Given the description of an element on the screen output the (x, y) to click on. 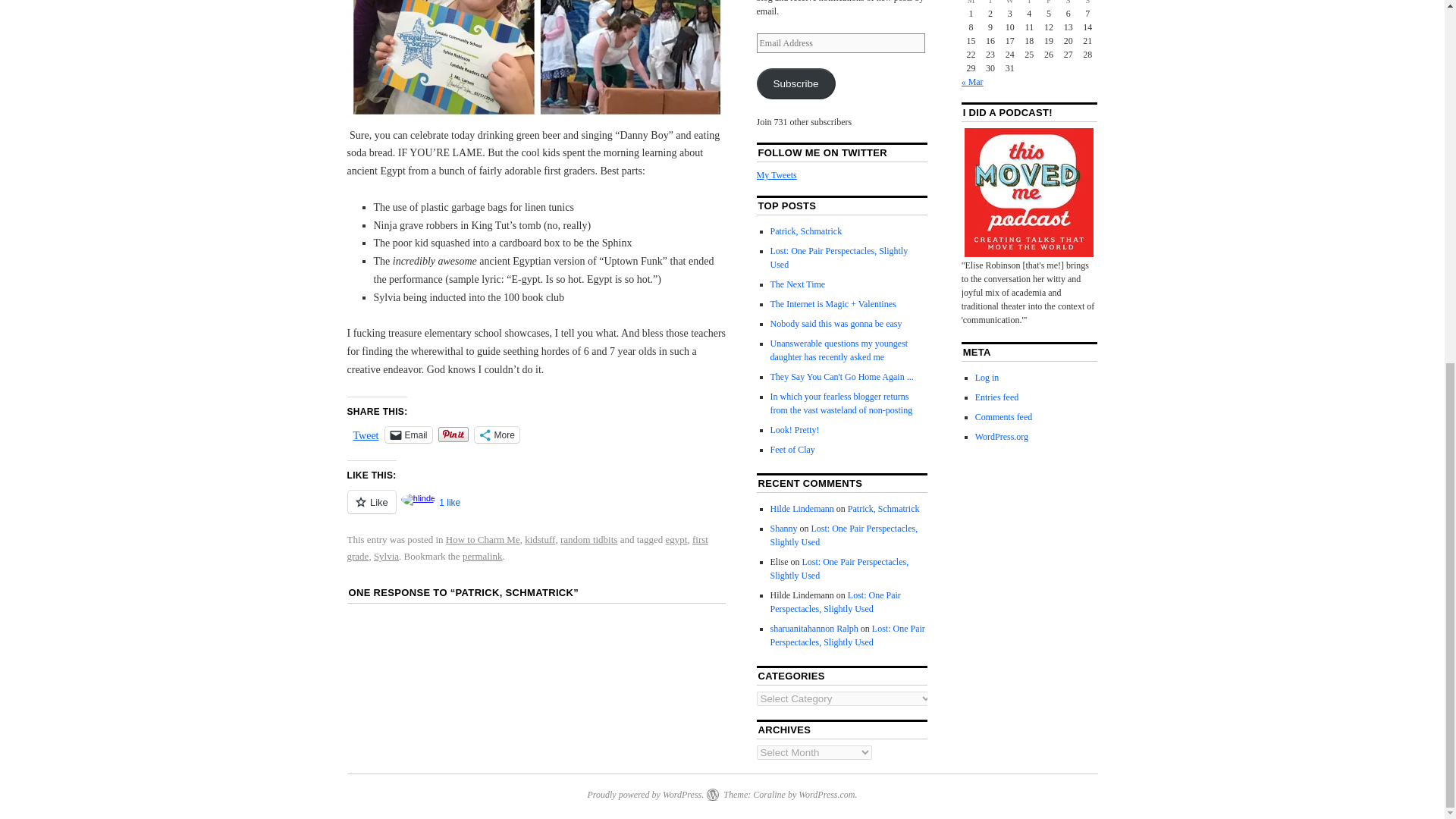
Sunday (1087, 3)
random tidbits (588, 539)
Monday (970, 3)
Permalink to Patrick, Schmatrick (482, 555)
Click to email a link to a friend (408, 434)
Friday (1048, 3)
Saturday (1068, 3)
egypt (676, 539)
Tweet (365, 433)
Tuesday (989, 3)
Thursday (1029, 3)
Subscribe (796, 83)
My Tweets (776, 174)
Like or Reblog (536, 510)
first grade (527, 547)
